Given the description of an element on the screen output the (x, y) to click on. 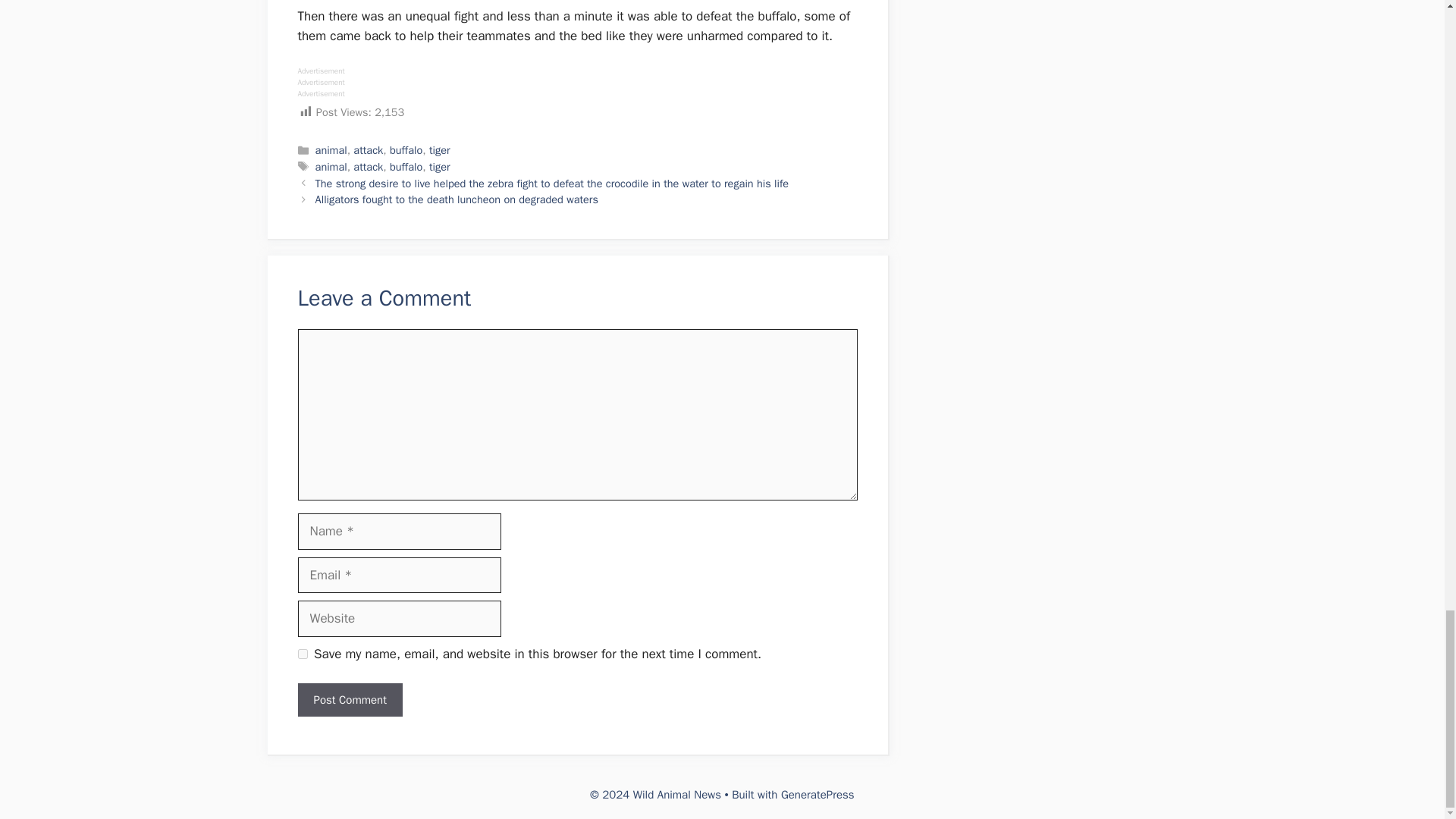
buffalo (406, 166)
attack (367, 166)
tiger (439, 150)
animal (331, 166)
buffalo (406, 150)
Alligators fought to the death luncheon on degraded waters (456, 199)
Post Comment (349, 700)
yes (302, 654)
attack (367, 150)
